Given the description of an element on the screen output the (x, y) to click on. 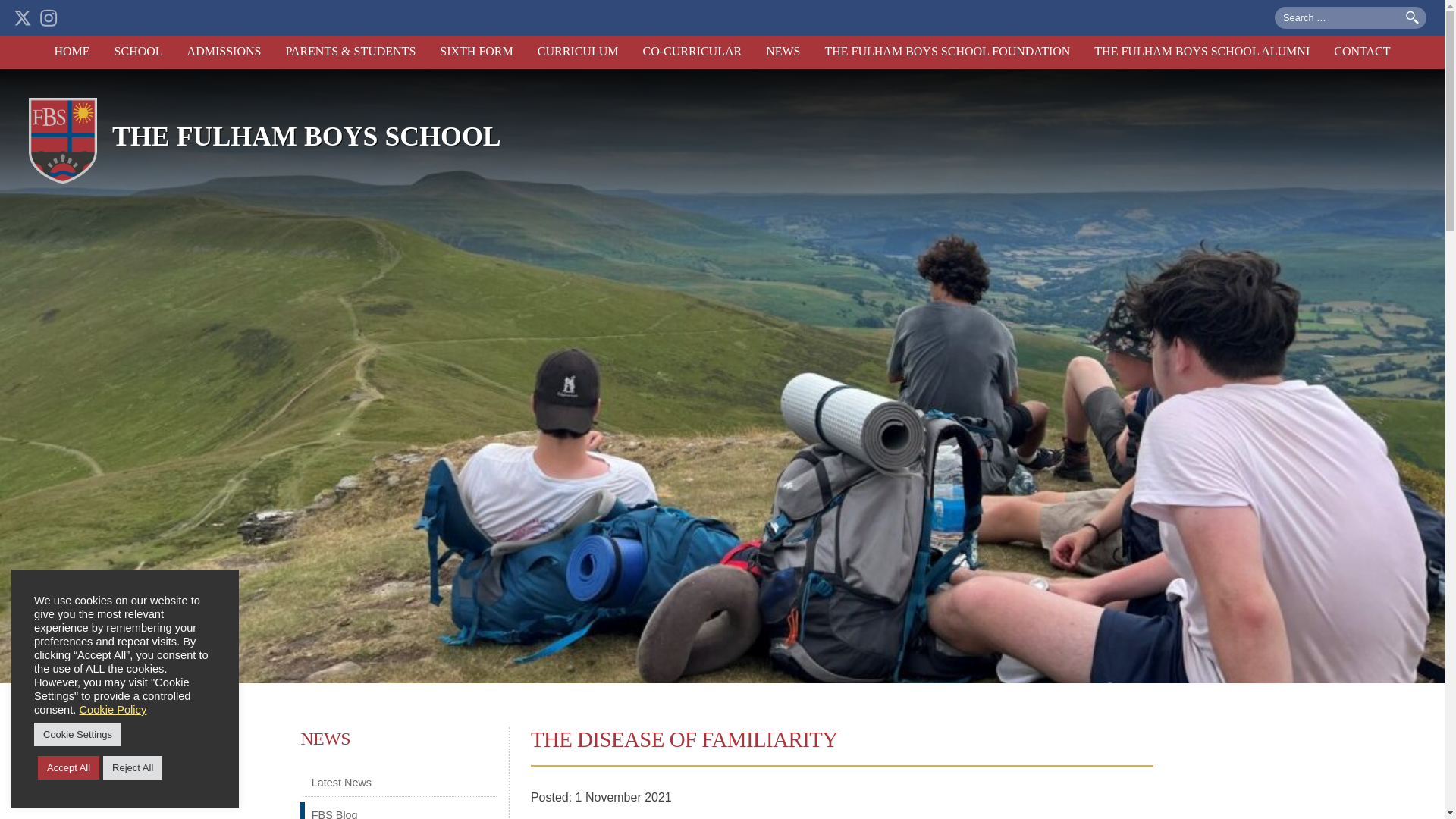
Instagram (48, 17)
ADMISSIONS (223, 52)
HOME (71, 52)
Search (1413, 17)
Search (1413, 17)
SCHOOL (137, 52)
Search (1413, 17)
Twitter (22, 17)
